Given the description of an element on the screen output the (x, y) to click on. 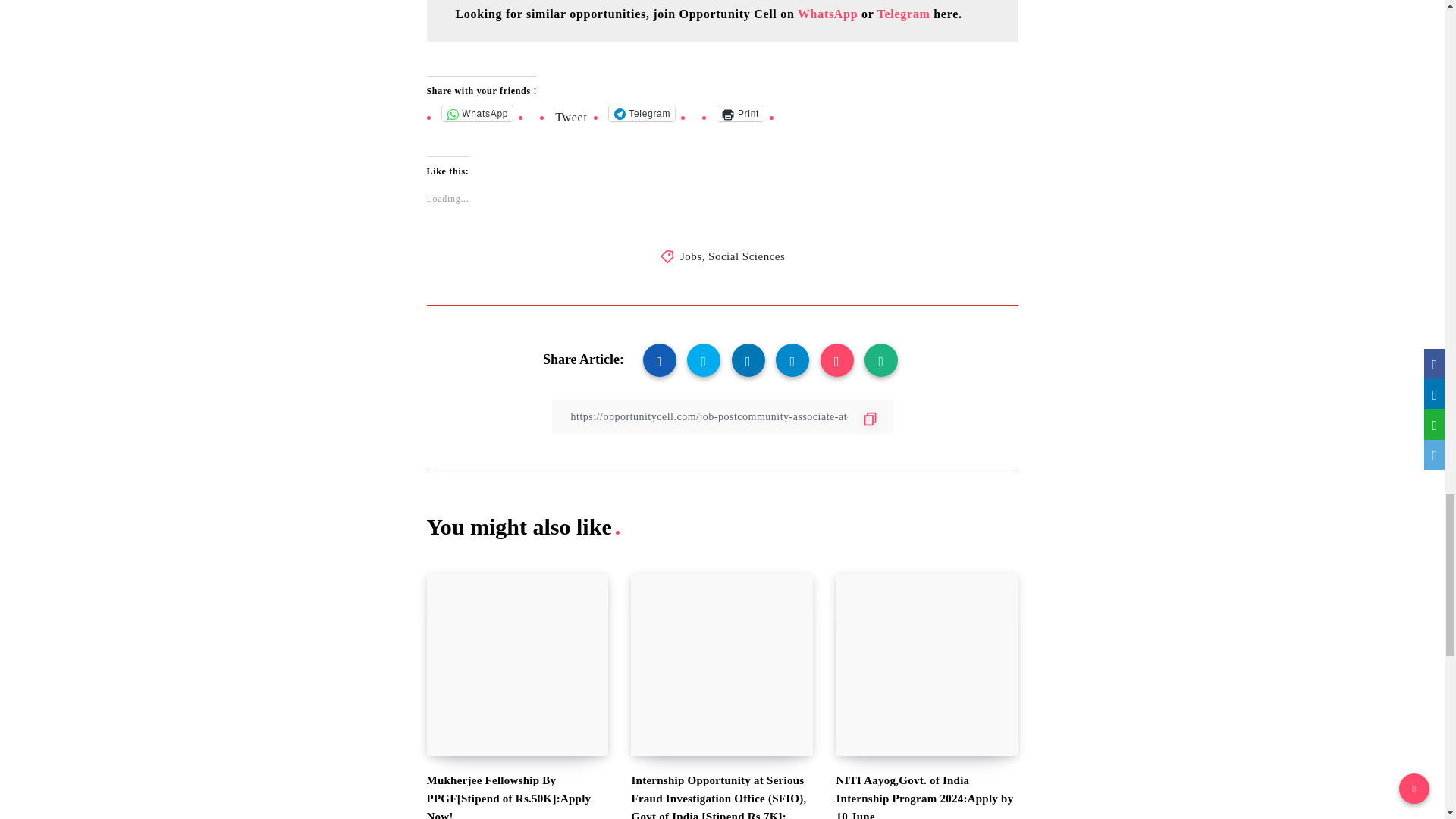
Click to print (739, 113)
Click to share on Telegram (641, 113)
Click to share on WhatsApp (476, 113)
